Given the description of an element on the screen output the (x, y) to click on. 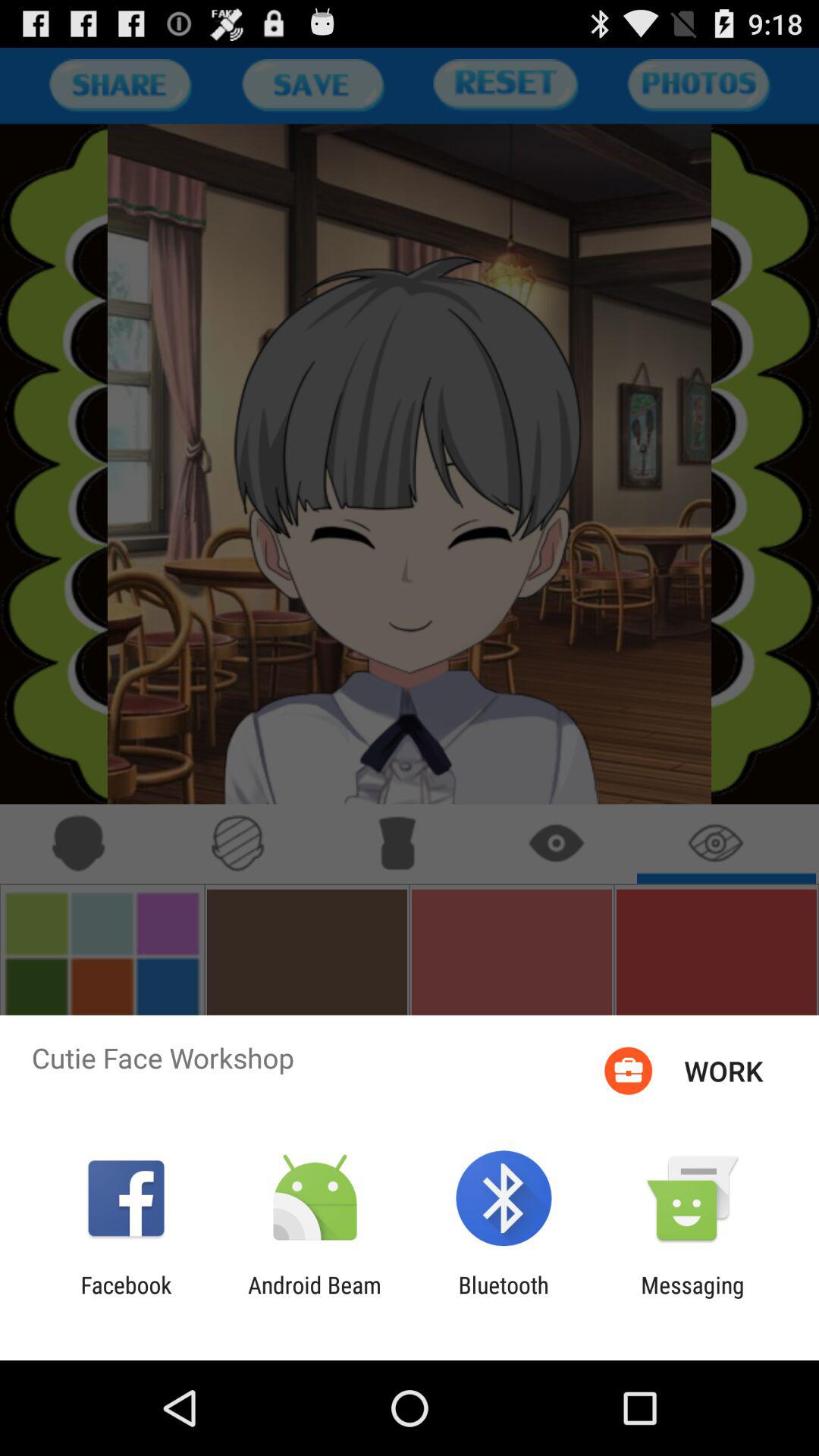
jump to facebook (125, 1298)
